Given the description of an element on the screen output the (x, y) to click on. 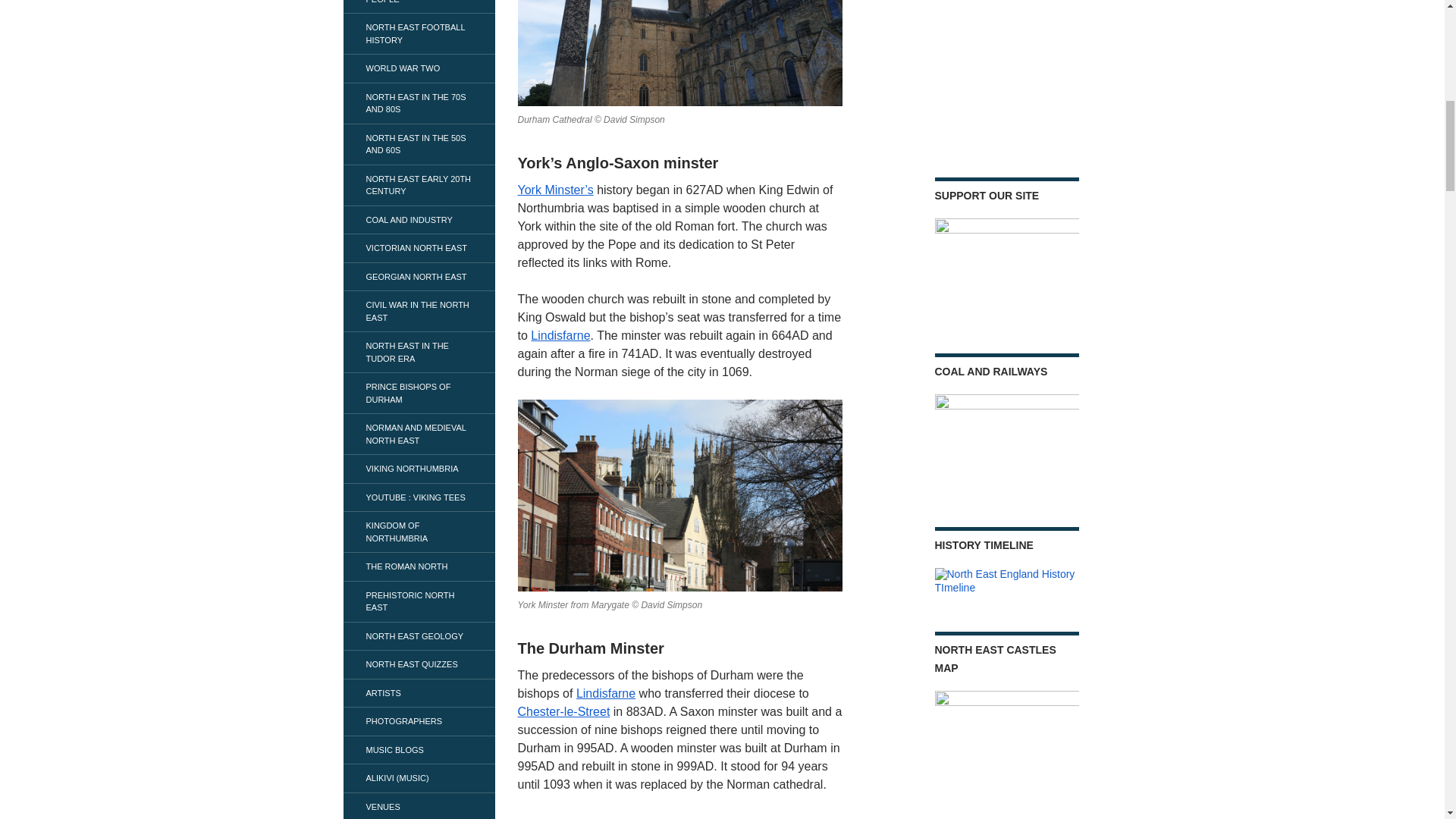
Geordie Mug (1006, 70)
North East Castles and Bastles map (1006, 755)
